Given the description of an element on the screen output the (x, y) to click on. 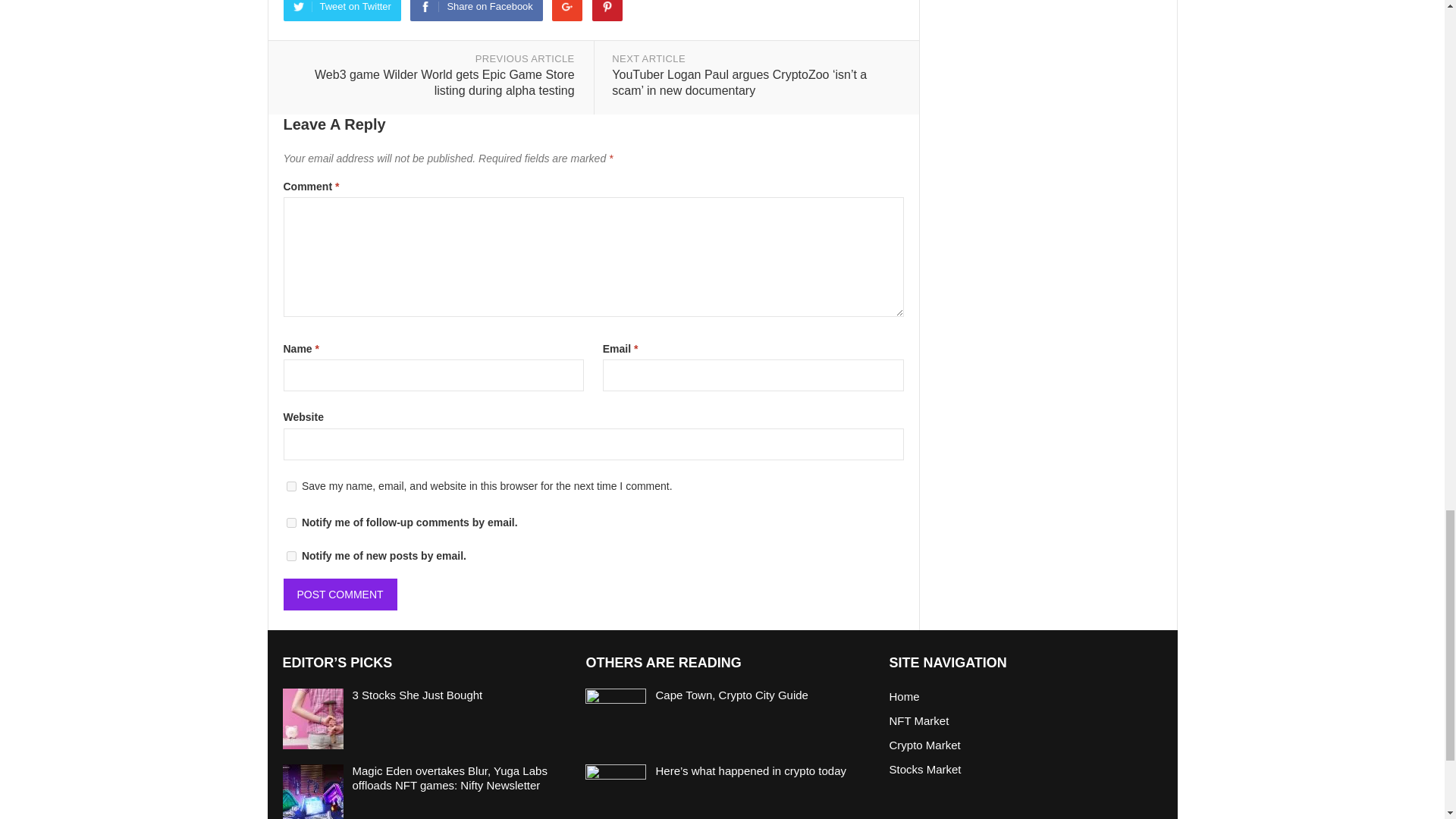
Share on Facebook (475, 10)
Post Comment (340, 594)
Pinterest (607, 10)
Tweet on Twitter (342, 10)
yes (291, 486)
subscribe (291, 556)
Post Comment (340, 594)
subscribe (291, 522)
